Given the description of an element on the screen output the (x, y) to click on. 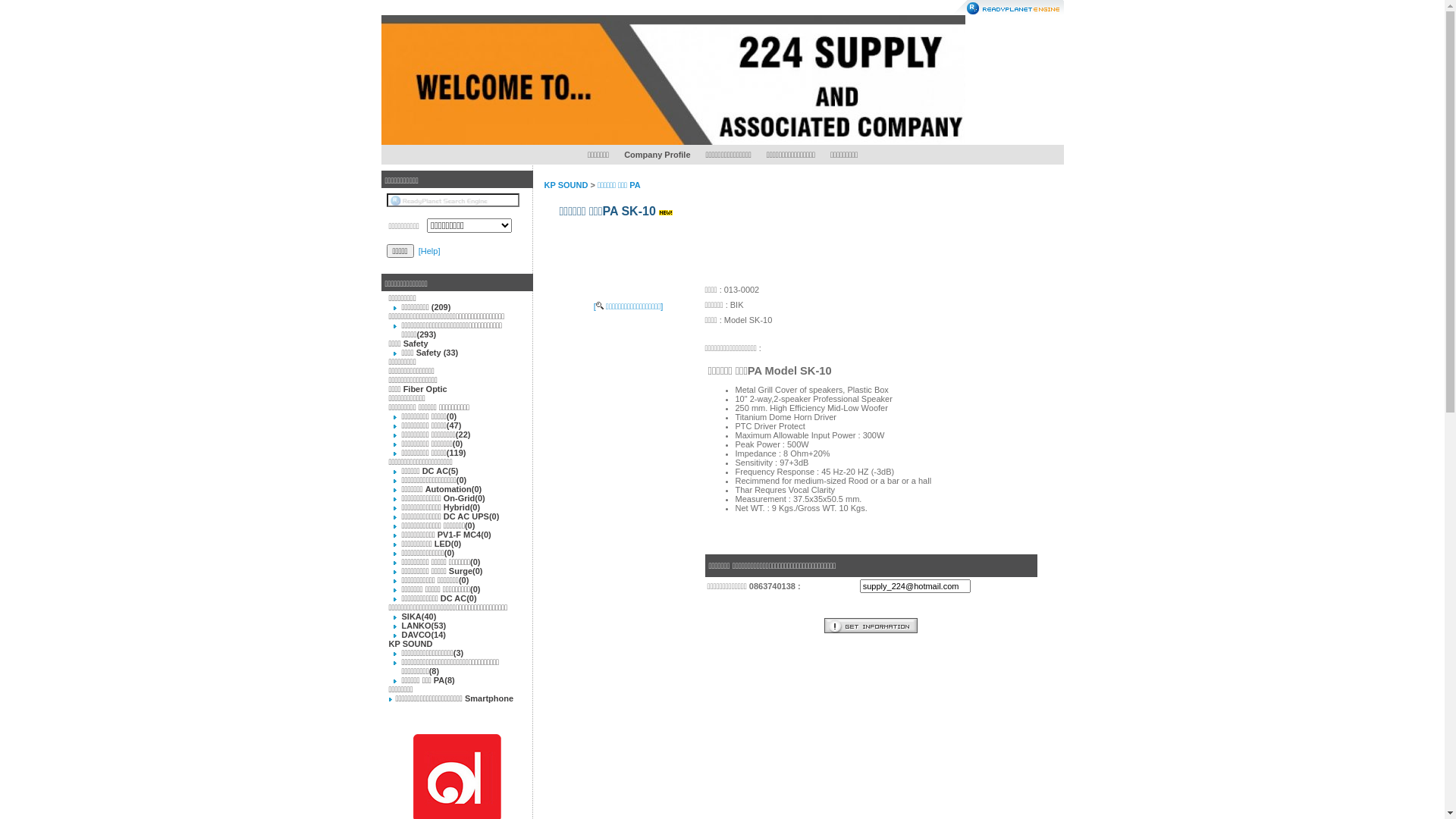
Company Profile Element type: text (657, 154)
SIKA(40) Element type: text (418, 616)
KP SOUND Element type: text (410, 643)
LANKO(53) Element type: text (423, 625)
DAVCO(14) Element type: text (423, 634)
[Help] Element type: text (429, 250)
KP SOUND Element type: text (566, 184)
ReadyPlanet.com Element type: hover (1007, 7)
